Given the description of an element on the screen output the (x, y) to click on. 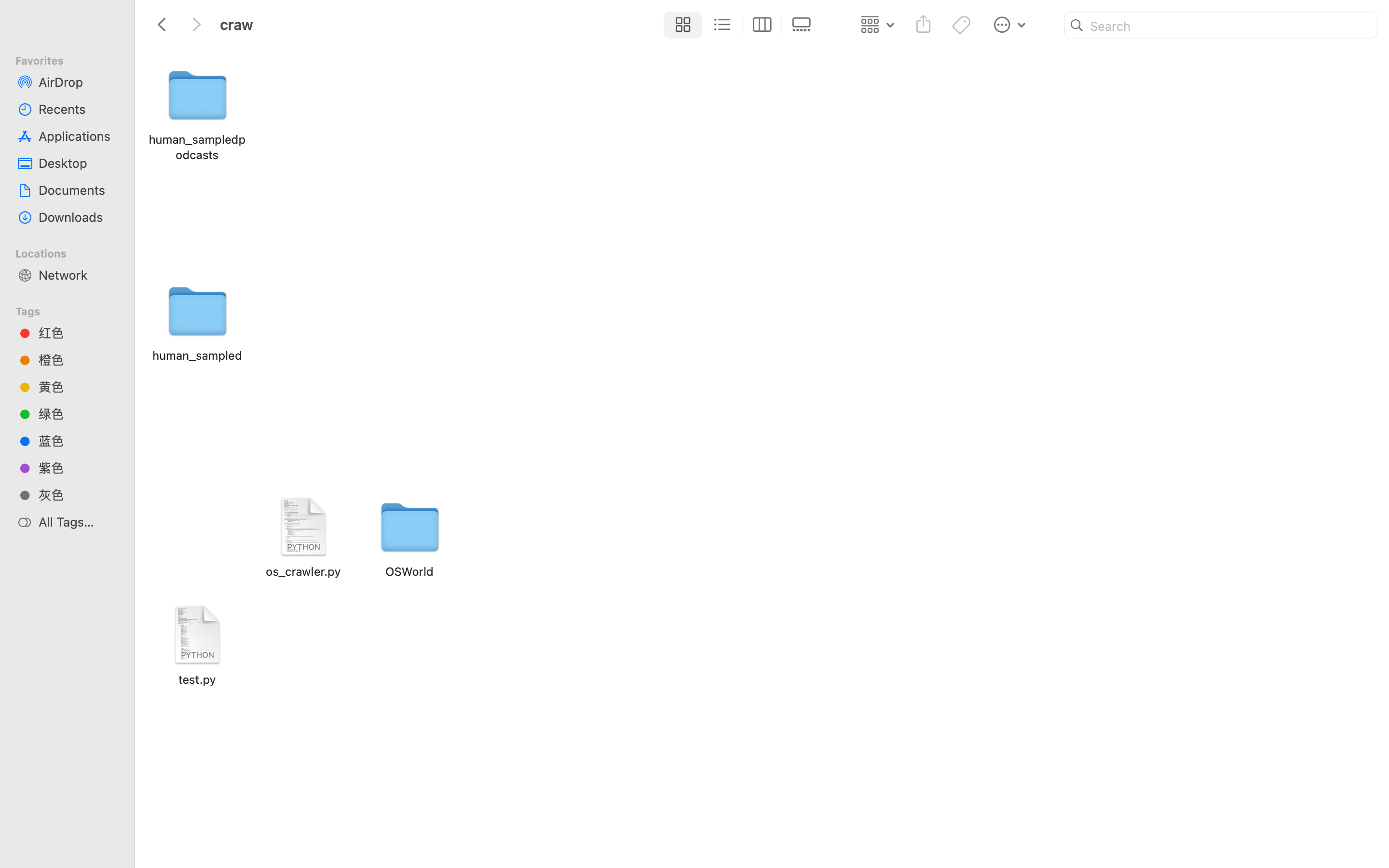
1 Element type: AXRadioButton (680, 24)
Locations Element type: AXStaticText (72, 252)
Documents Element type: AXStaticText (77, 189)
AirDrop Element type: AXStaticText (77, 81)
灰色 Element type: AXStaticText (77, 494)
